Given the description of an element on the screen output the (x, y) to click on. 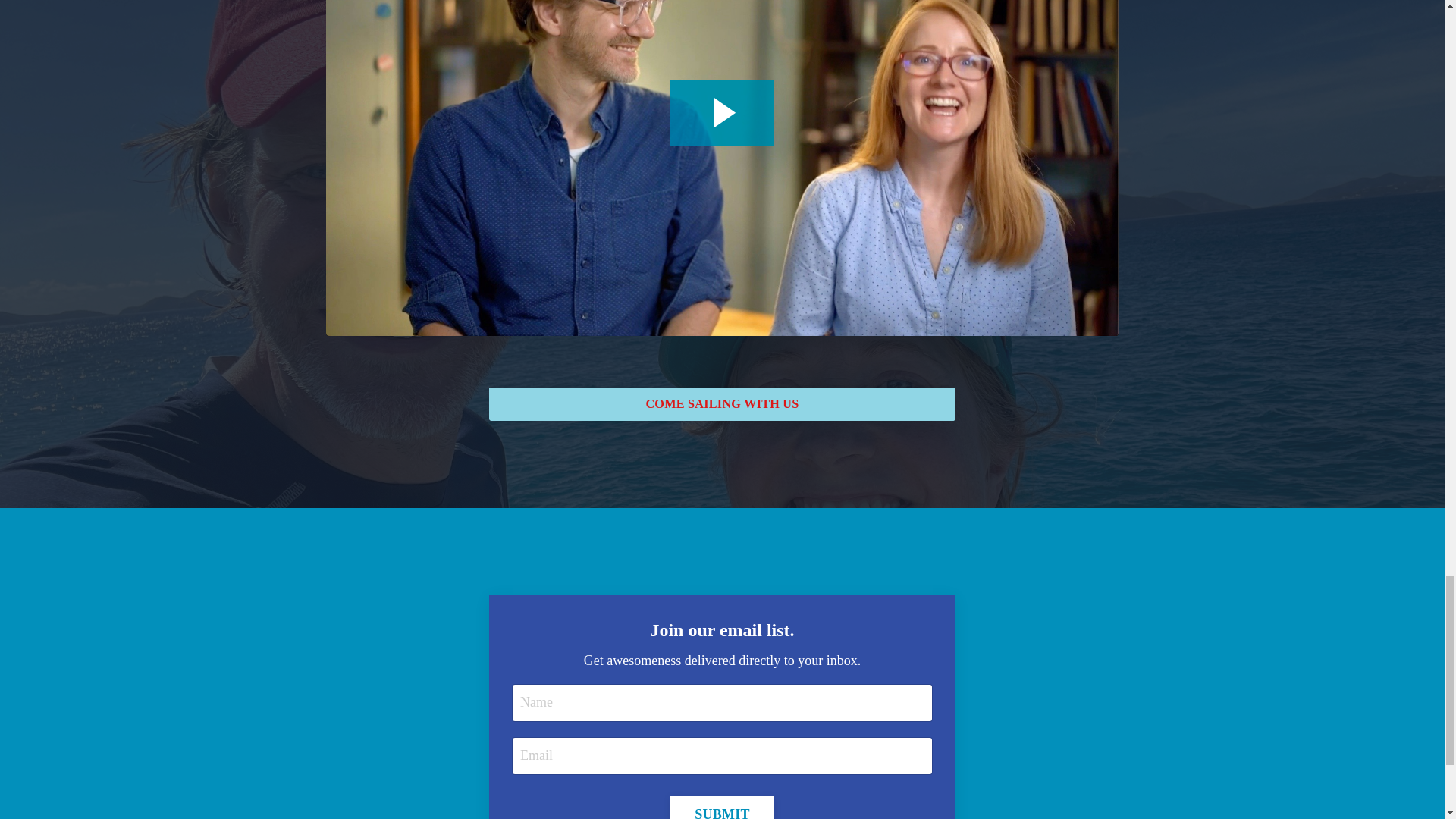
SUBMIT (721, 807)
COME SAILING WITH US (722, 403)
